Given the description of an element on the screen output the (x, y) to click on. 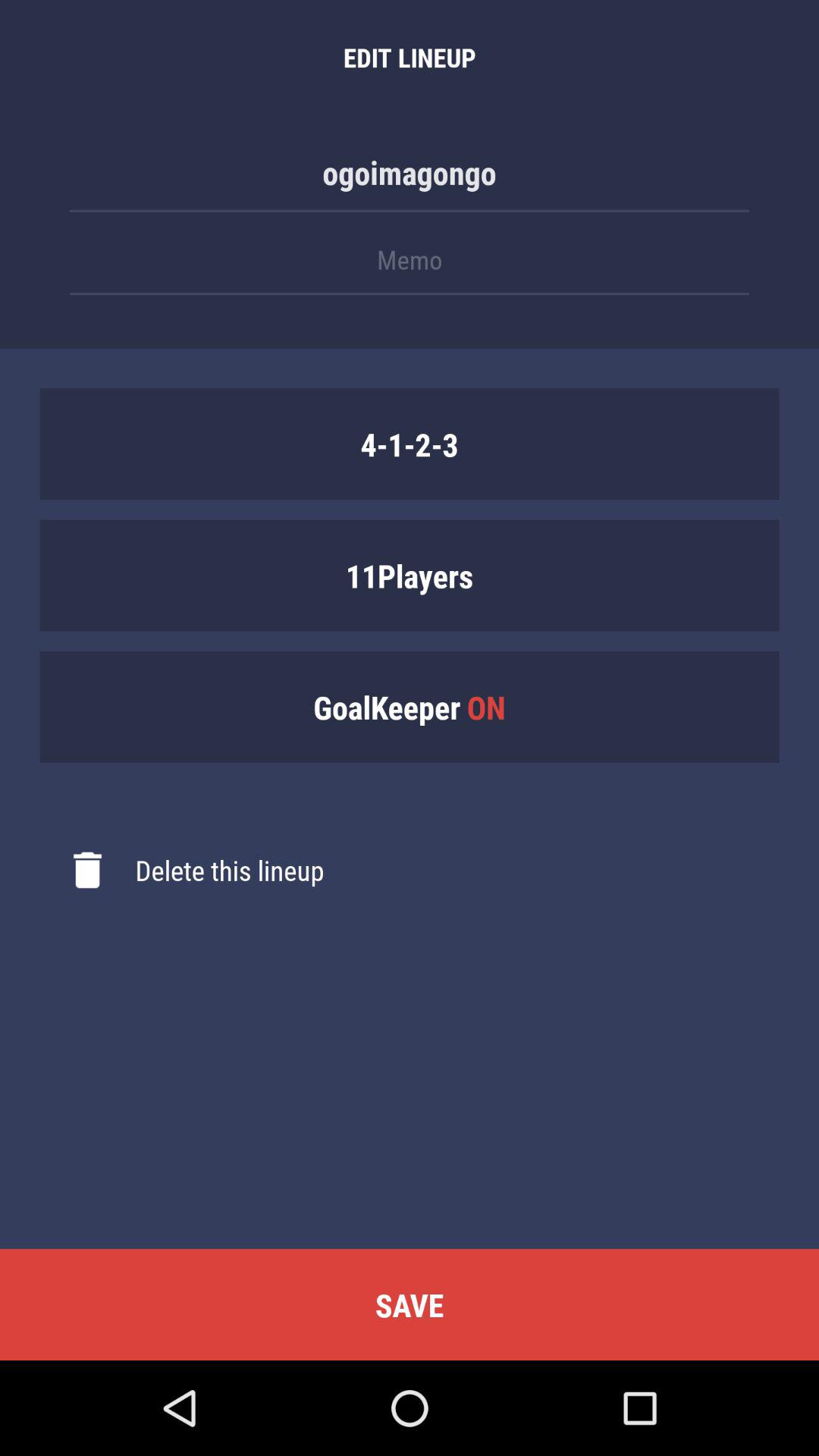
flip until the 4 1 2 icon (409, 443)
